Given the description of an element on the screen output the (x, y) to click on. 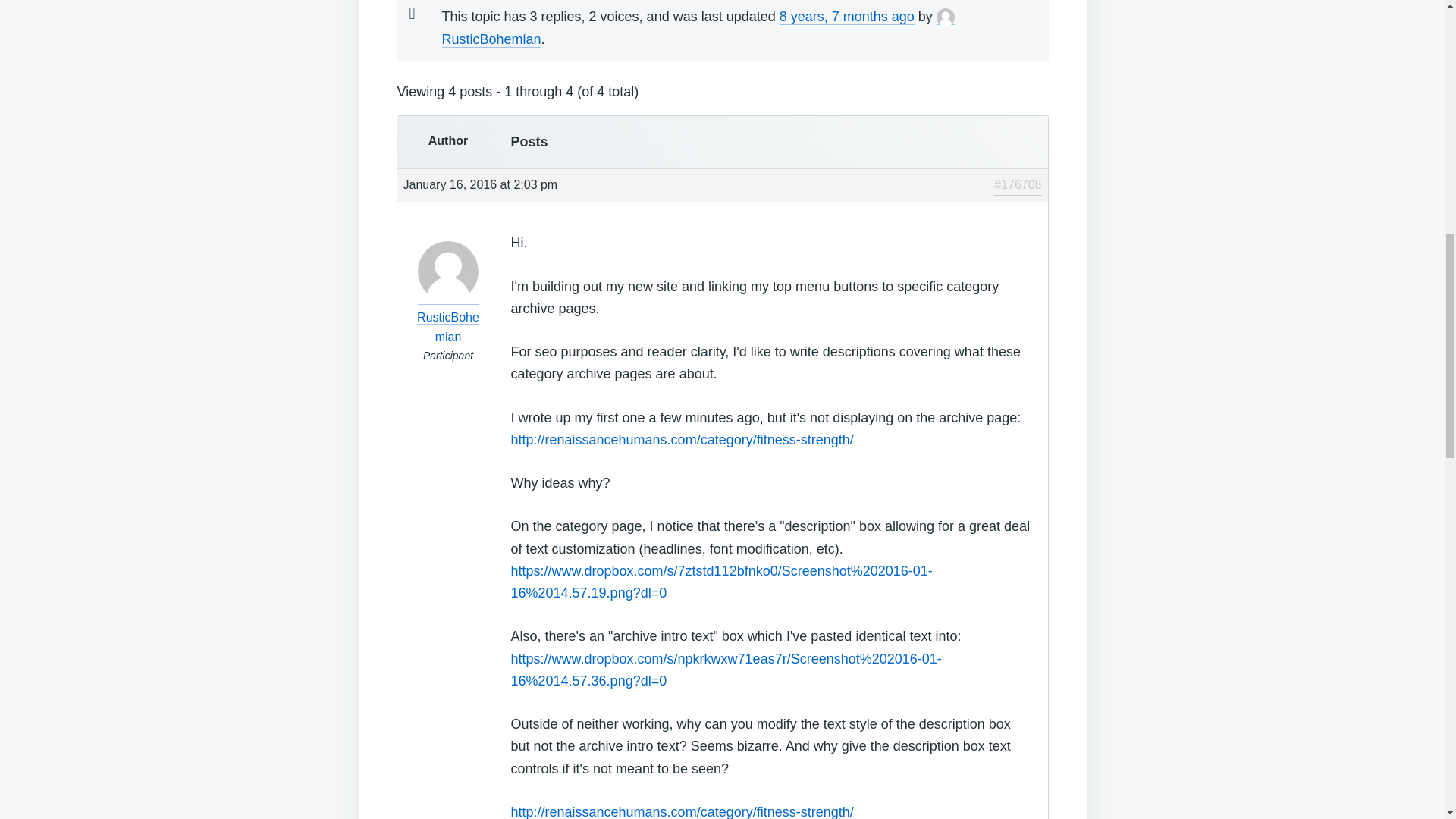
View RusticBohemian's profile (447, 317)
8 years, 7 months ago (846, 17)
RusticBohemian (697, 27)
Reply To: Category Descriptions Not Showing (846, 17)
RusticBohemian (447, 317)
View RusticBohemian's profile (697, 27)
